Given the description of an element on the screen output the (x, y) to click on. 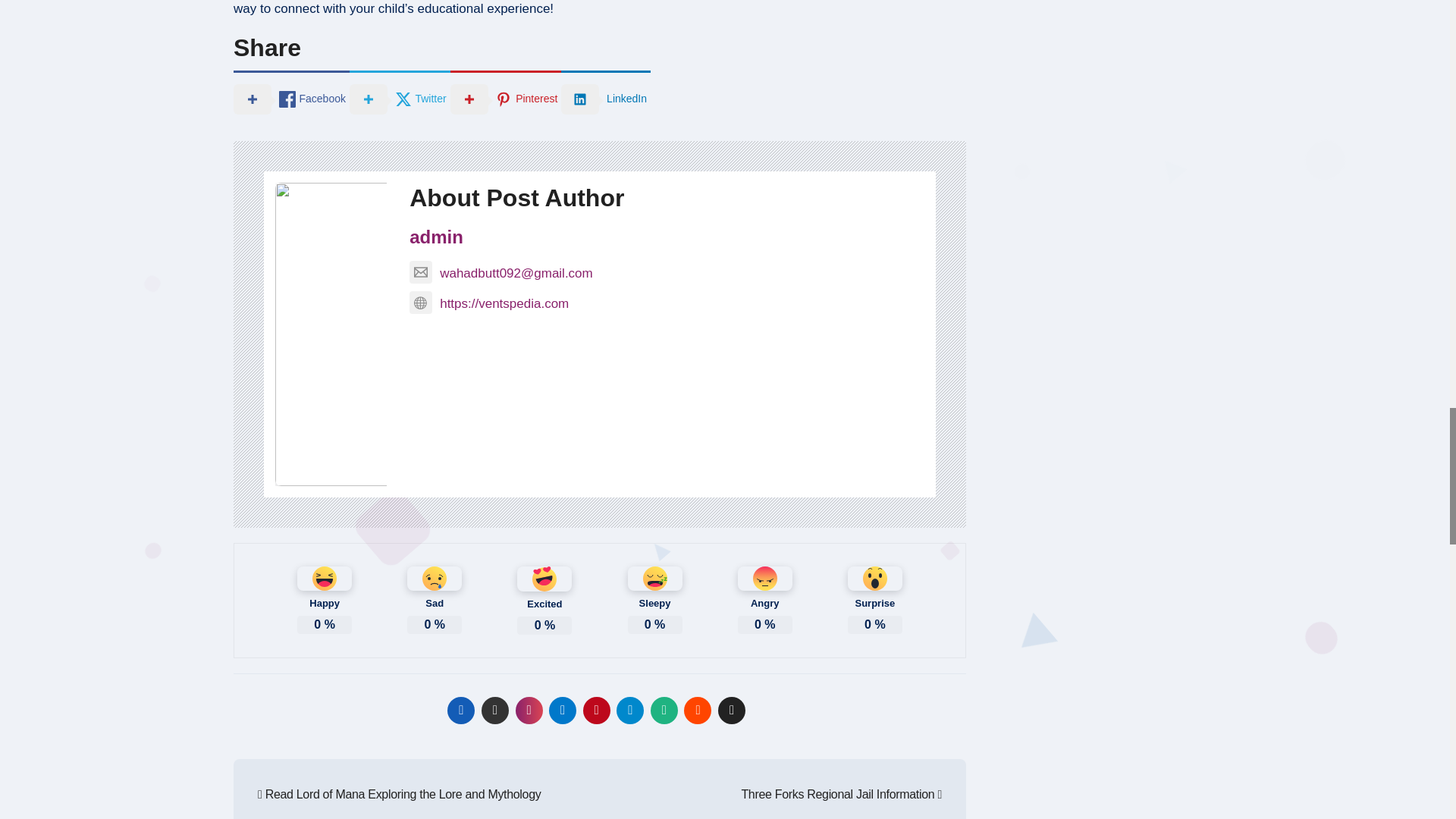
Facebook (290, 97)
LinkedIn (605, 97)
Twitter (399, 97)
Pinterest (505, 97)
admin (436, 236)
